Given the description of an element on the screen output the (x, y) to click on. 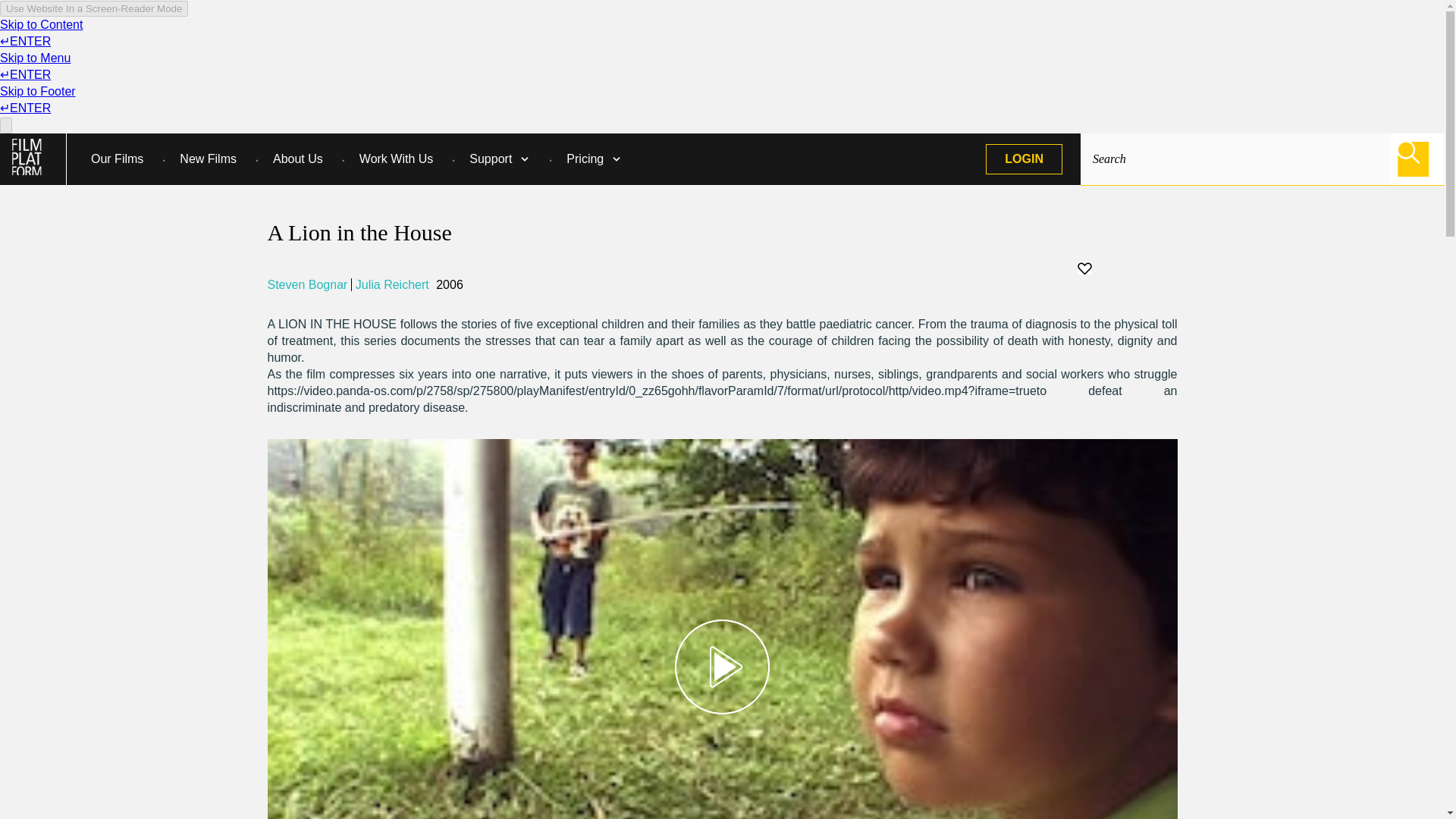
Add to my favorites (1126, 268)
New Films (207, 159)
Julia Reichert (393, 284)
Support (490, 159)
Steven Bognar (309, 284)
Pricing (584, 159)
About Us (297, 159)
Work With Us (395, 159)
. (1086, 267)
Our Films (116, 159)
LOGIN (1023, 159)
